Given the description of an element on the screen output the (x, y) to click on. 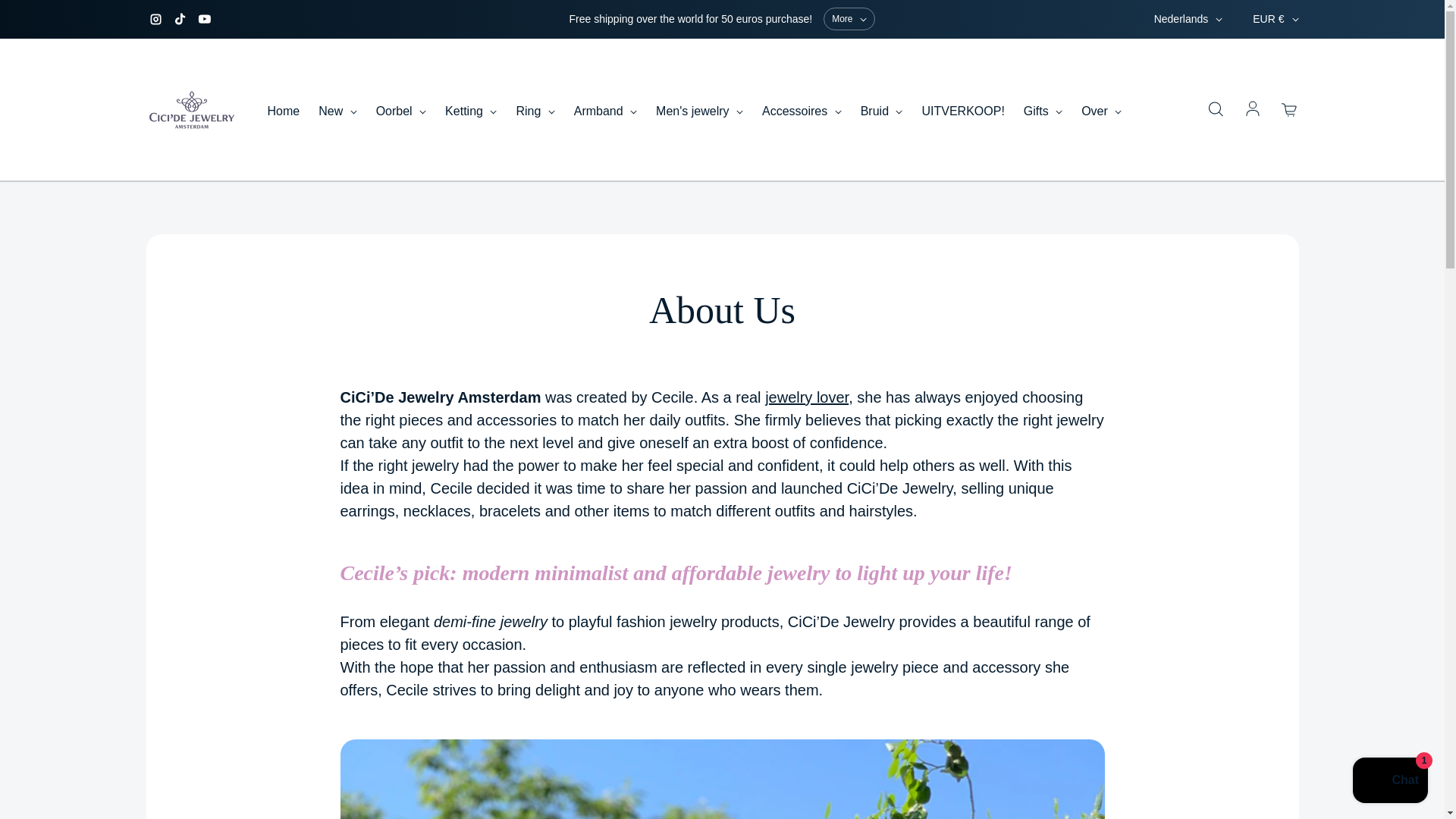
webshop-chat van Shopify (1390, 781)
